Given the description of an element on the screen output the (x, y) to click on. 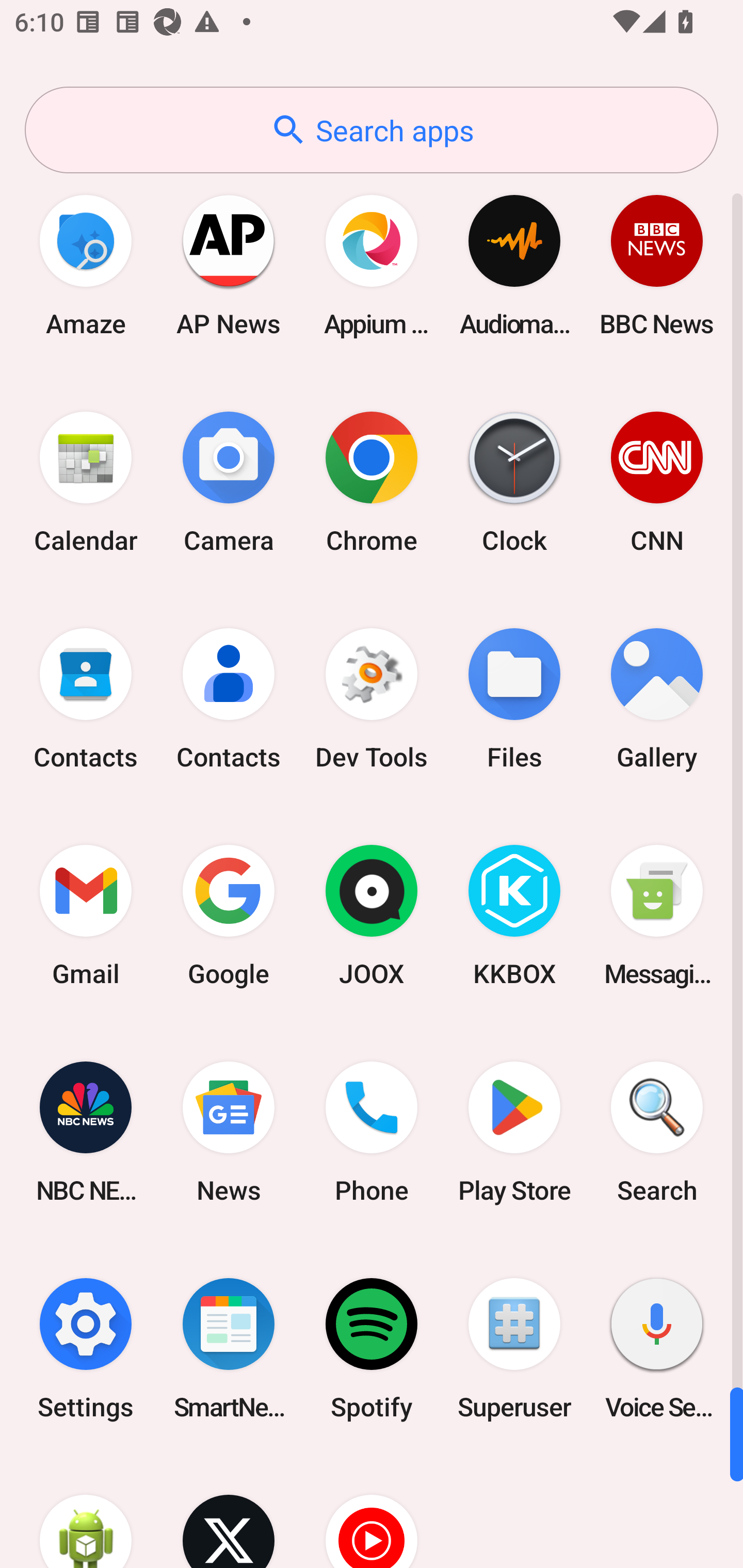
  Search apps (371, 130)
Amaze (85, 264)
AP News (228, 264)
Appium Settings (371, 264)
Audio­mack (514, 264)
BBC News (656, 264)
Calendar (85, 482)
Camera (228, 482)
Chrome (371, 482)
Clock (514, 482)
CNN (656, 482)
Contacts (85, 699)
Contacts (228, 699)
Dev Tools (371, 699)
Files (514, 699)
Gallery (656, 699)
Gmail (85, 915)
Google (228, 915)
JOOX (371, 915)
KKBOX (514, 915)
Messaging (656, 915)
NBC NEWS (85, 1131)
News (228, 1131)
Phone (371, 1131)
Play Store (514, 1131)
Search (656, 1131)
Settings (85, 1348)
SmartNews (228, 1348)
Spotify (371, 1348)
Superuser (514, 1348)
Voice Search (656, 1348)
WebView Browser Tester (85, 1512)
X (228, 1512)
YT Music (371, 1512)
